Given the description of an element on the screen output the (x, y) to click on. 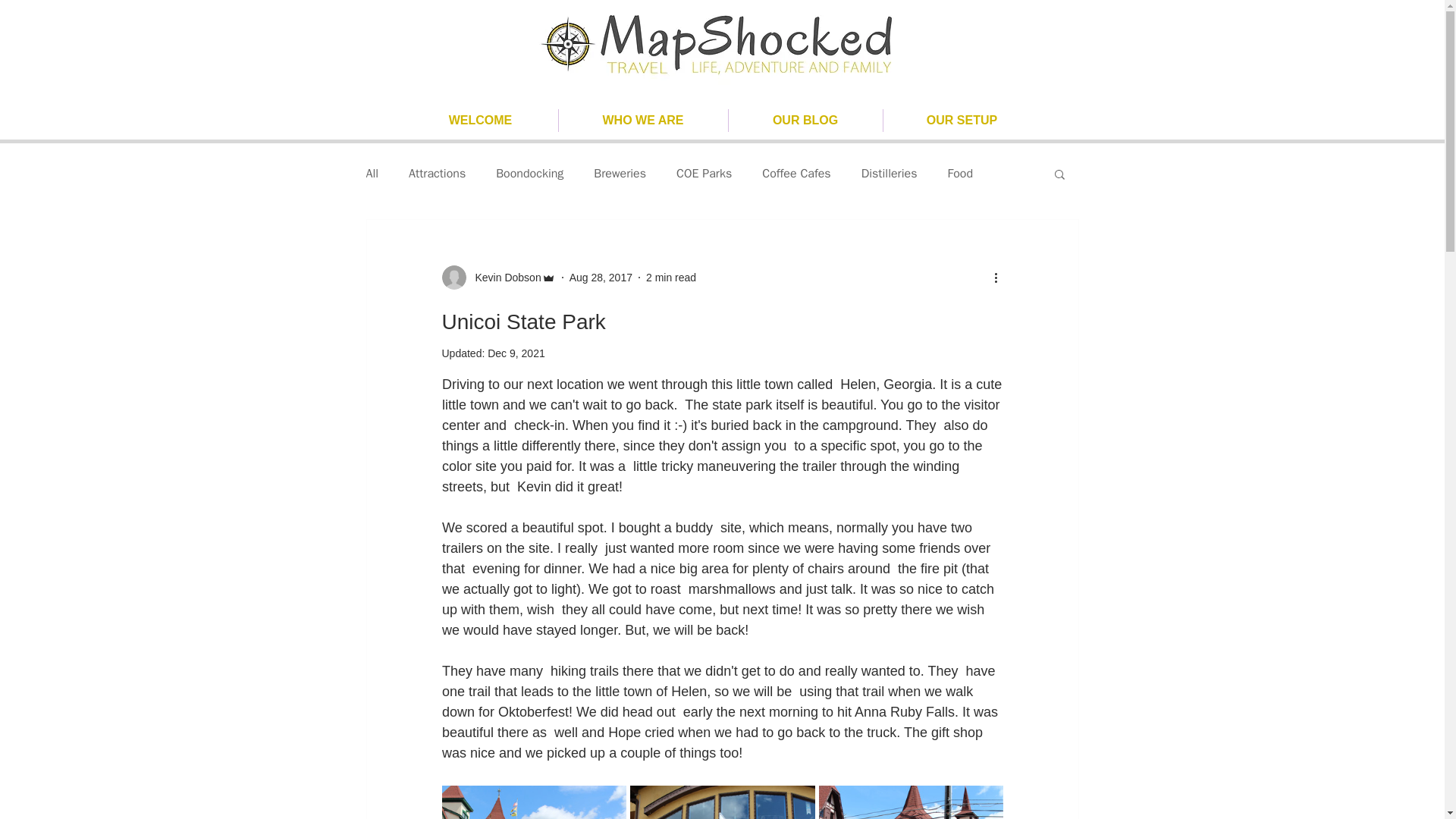
Kevin Dobson (497, 277)
Breweries (620, 172)
Boondocking (529, 172)
WELCOME (480, 119)
Food (959, 172)
Distilleries (889, 172)
Kevin Dobson (502, 277)
Aug 28, 2017 (600, 277)
OUR BLOG (805, 119)
Dec 9, 2021 (515, 353)
